Given the description of an element on the screen output the (x, y) to click on. 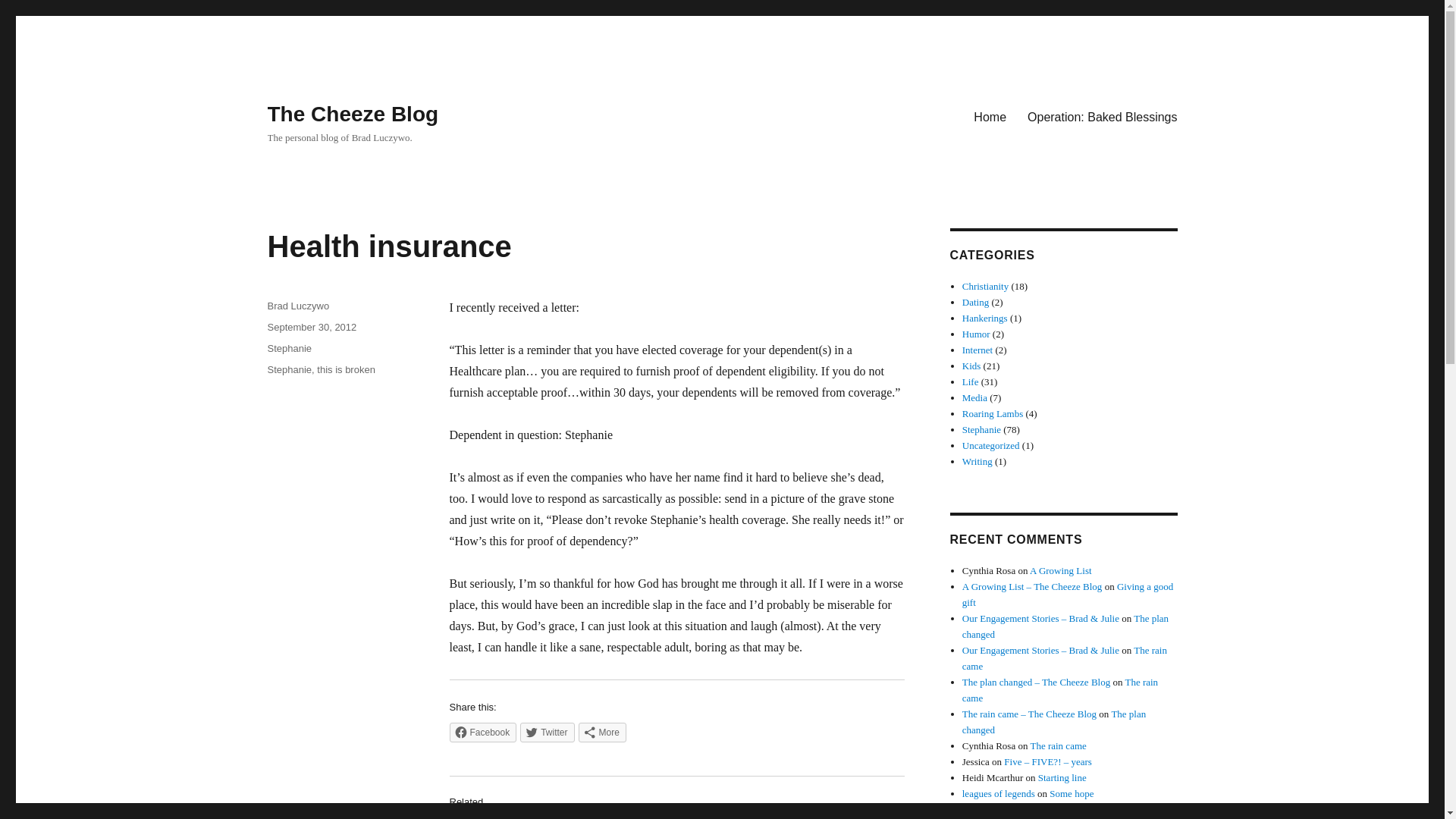
Humor (976, 333)
Operation: Baked Blessings (1102, 116)
More (602, 732)
Hankerings (984, 317)
Facebook (482, 732)
Stephanie (981, 429)
Christianity (985, 285)
Dating (975, 301)
Writing (977, 460)
Uncategorized (991, 445)
Roaring Lambs (992, 413)
The Cheeze Blog (352, 114)
Kids (971, 365)
Giving a good gift (1067, 594)
Stephanie (288, 369)
